Given the description of an element on the screen output the (x, y) to click on. 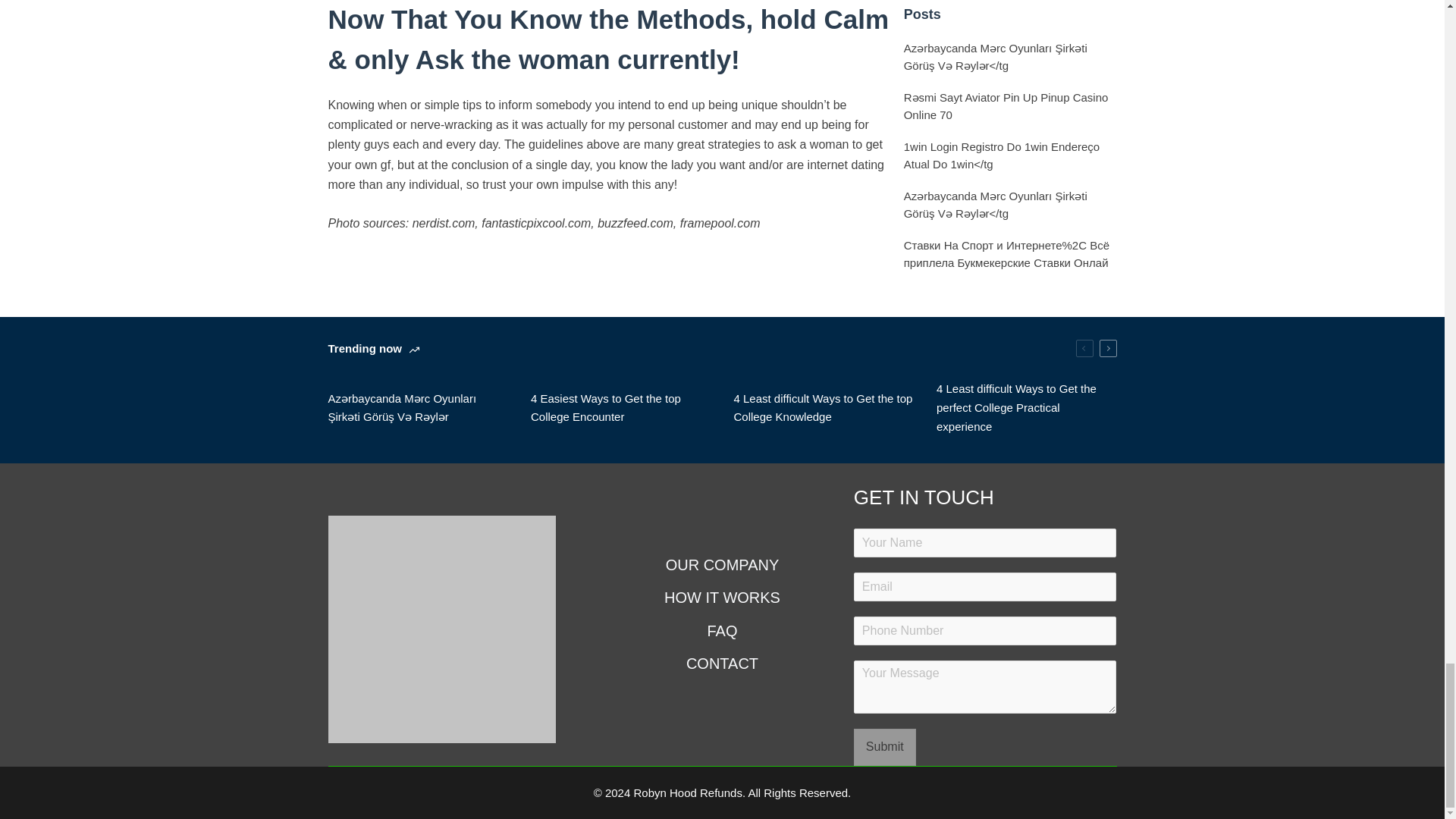
OUR COMPANY (722, 564)
CONTACT (722, 663)
HOW IT WORKS (722, 597)
Submit (884, 746)
4 Least difficult Ways to Get the top College Knowledge (823, 407)
4 Easiest Ways to Get the top College Encounter (621, 407)
FAQ (722, 630)
milfhookup (356, 260)
